Given the description of an element on the screen output the (x, y) to click on. 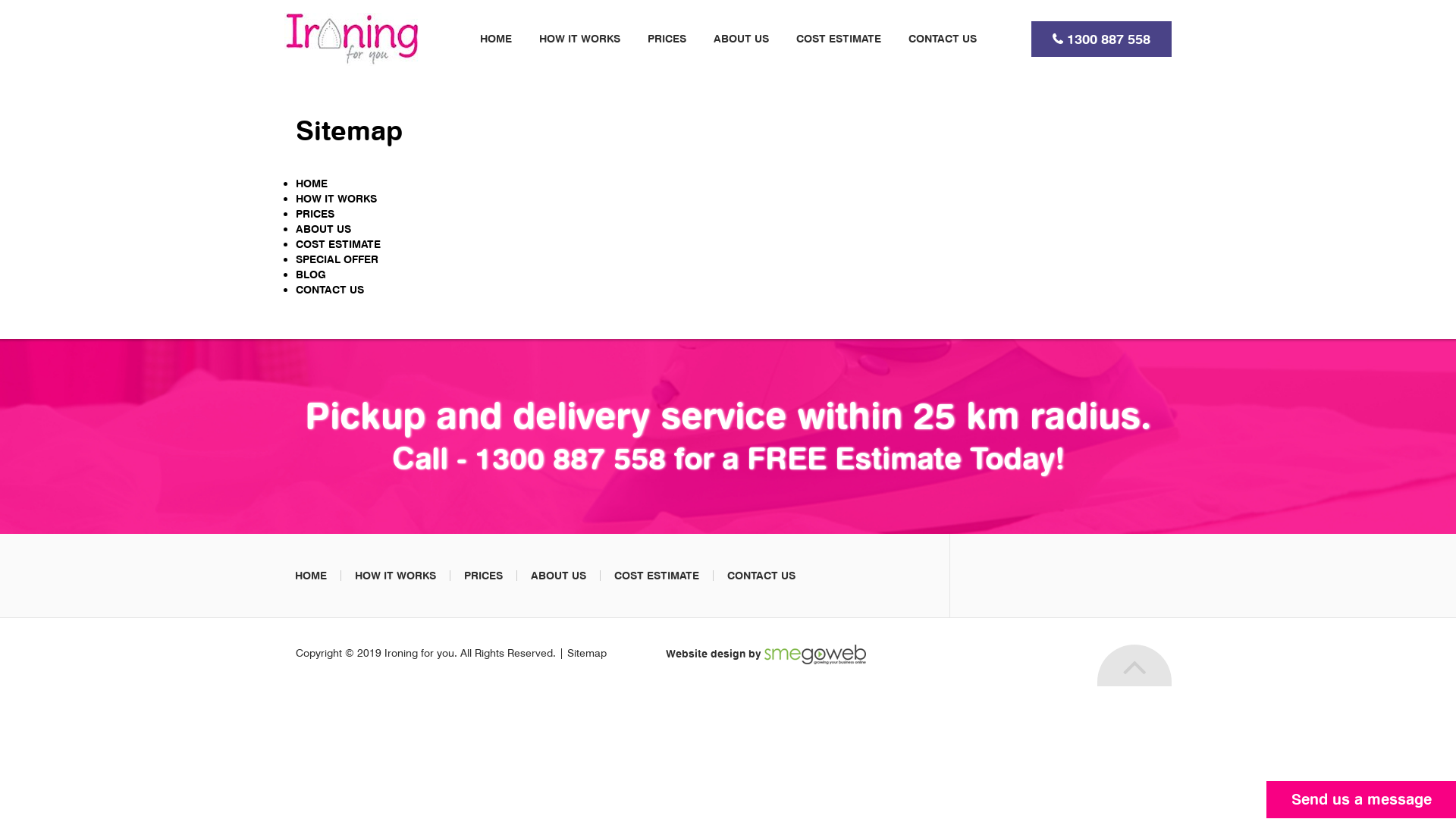
CONTACT US Element type: text (329, 288)
HOW IT WORKS Element type: text (335, 197)
ABOUT US Element type: text (558, 574)
HOME Element type: text (310, 574)
COST ESTIMATE Element type: text (337, 243)
PRICES Element type: text (483, 574)
ABOUT US Element type: text (323, 228)
COST ESTIMATE Element type: text (838, 37)
1300 887 558 Element type: text (1108, 38)
HOW IT WORKS Element type: text (578, 37)
HOME Element type: text (311, 182)
SPECIAL OFFER Element type: text (336, 258)
COST ESTIMATE Element type: text (656, 574)
HOW IT WORKS Element type: text (395, 574)
CONTACT US Element type: text (761, 574)
ABOUT US Element type: text (740, 37)
PRICES Element type: text (666, 37)
HOME Element type: text (495, 37)
BLOG Element type: text (310, 273)
CONTACT US Element type: text (942, 37)
1300 887 558 Element type: text (569, 457)
Sitemap Element type: text (586, 652)
PRICES Element type: text (314, 213)
